Given the description of an element on the screen output the (x, y) to click on. 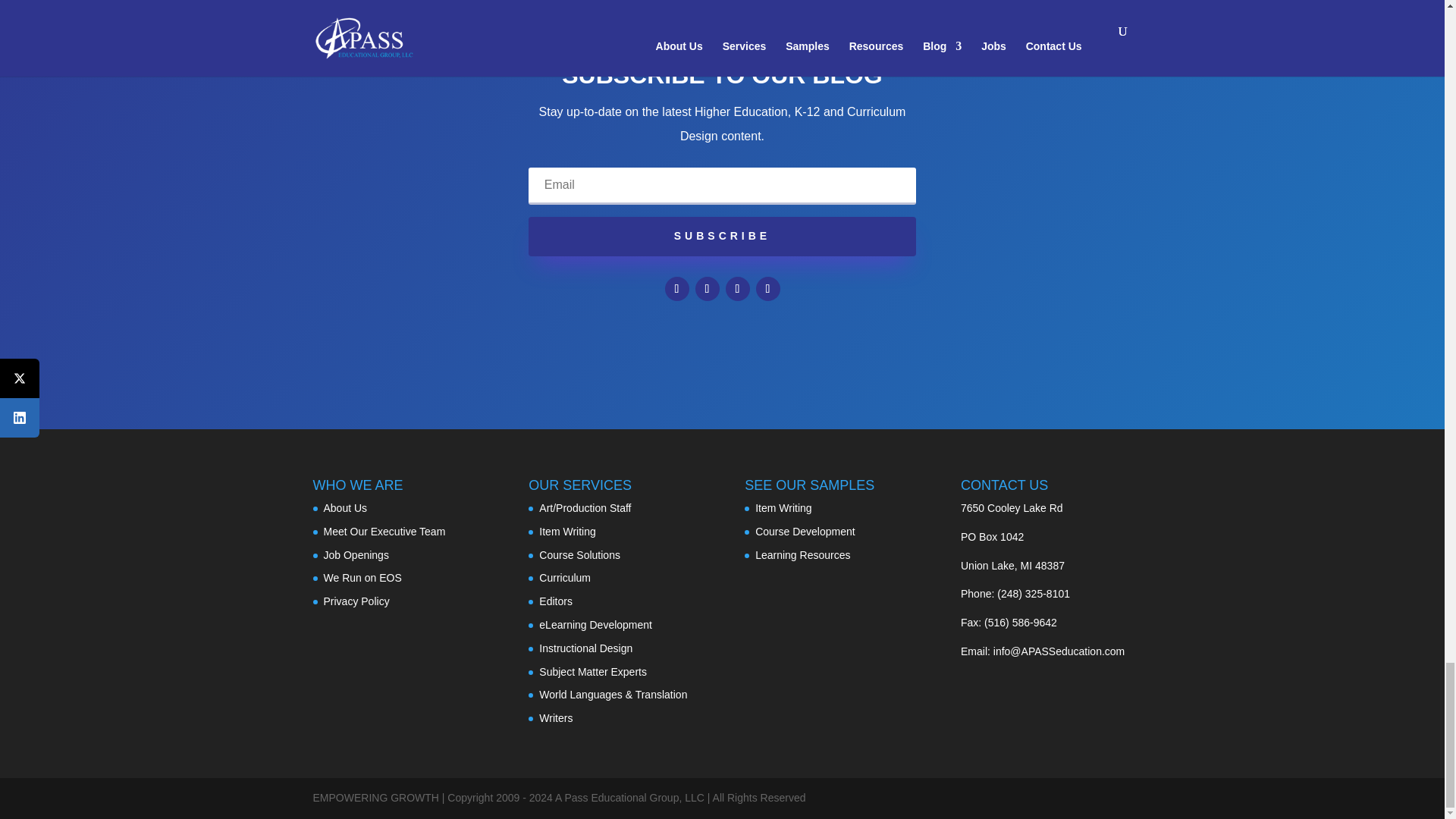
Follow on Twitter (706, 288)
About Us (344, 508)
SUBSCRIBE (721, 236)
We Run on EOS (362, 577)
Job Openings (355, 554)
Follow on LinkedIn (737, 288)
Follow on Facebook (675, 288)
Follow on Instagram (766, 288)
Meet Our Executive Team (384, 531)
